Given the description of an element on the screen output the (x, y) to click on. 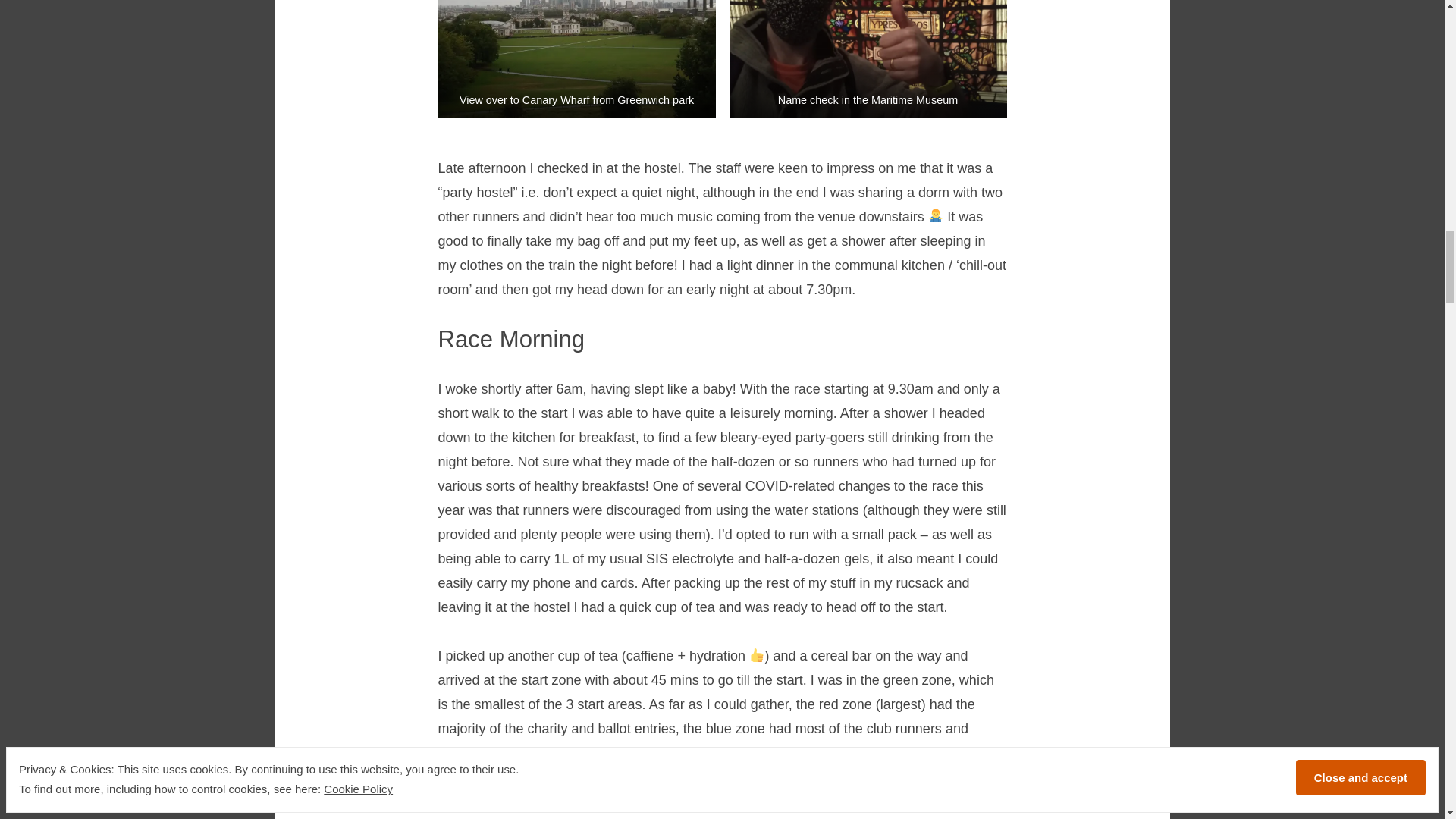
Colin the Caterpiller outfit (837, 801)
